Given the description of an element on the screen output the (x, y) to click on. 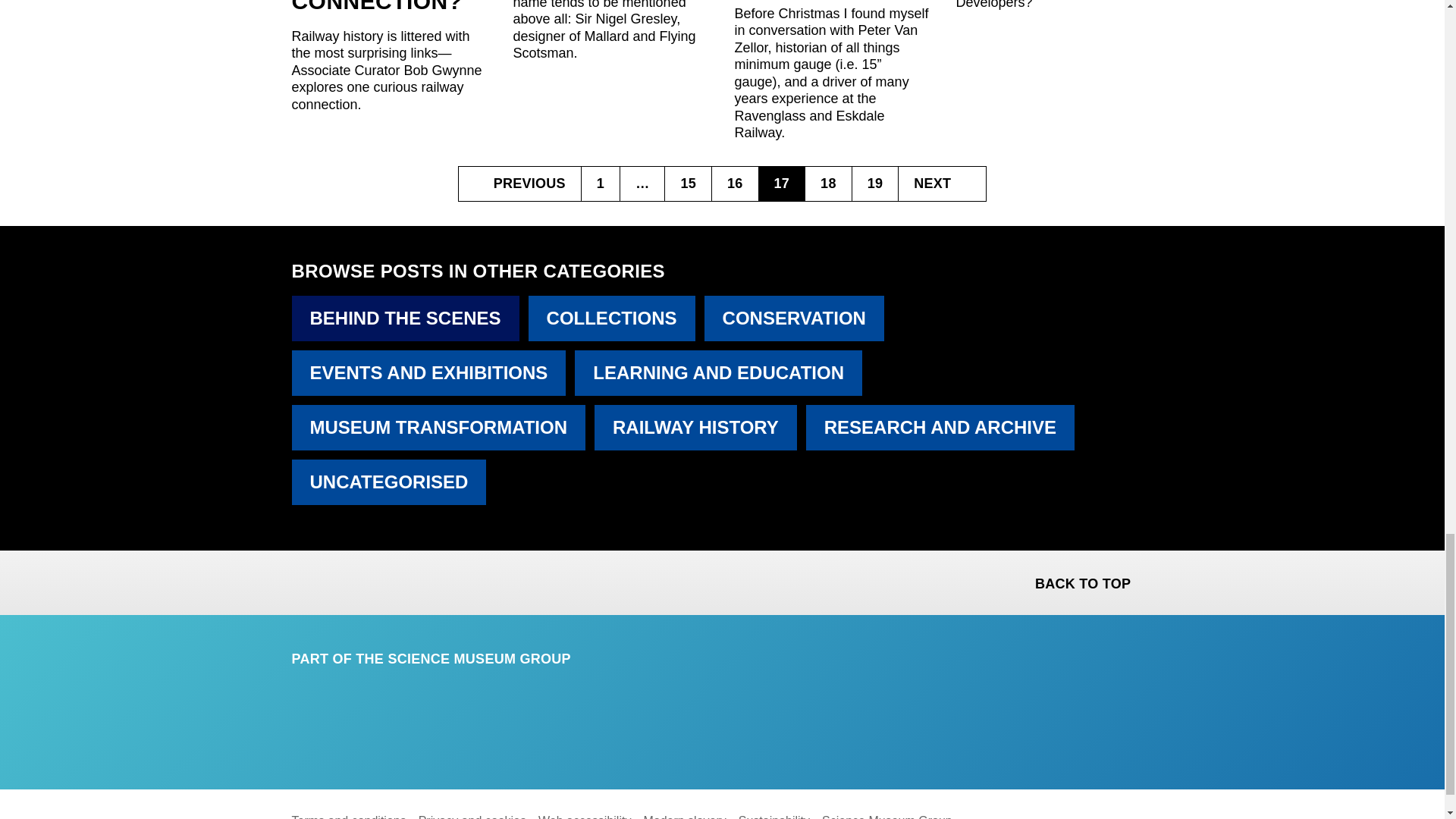
Share on facebook (304, 580)
Share by email (384, 580)
Tweet this (344, 580)
View all posts in Uncategorised (388, 482)
View all posts in Railway history (695, 427)
View all posts in Events and exhibitions (428, 372)
View all posts in Behind the scenes (404, 318)
View all posts in Learning and education (718, 372)
View all posts in Research and archive (940, 427)
View all posts in Museum transformation (438, 427)
View all posts in Collections (611, 318)
View all posts in Conservation (793, 318)
